Given the description of an element on the screen output the (x, y) to click on. 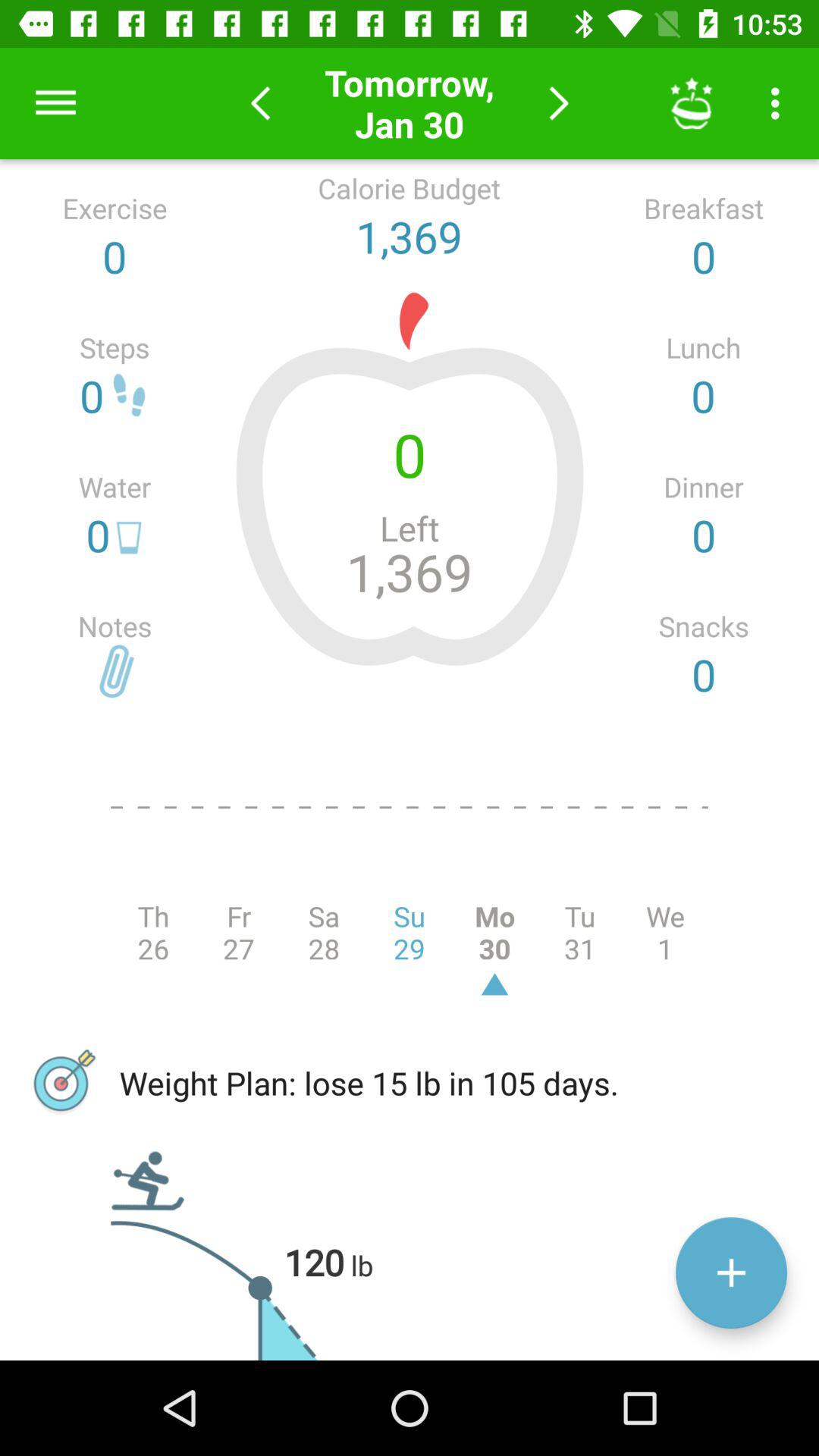
next day (558, 103)
